Given the description of an element on the screen output the (x, y) to click on. 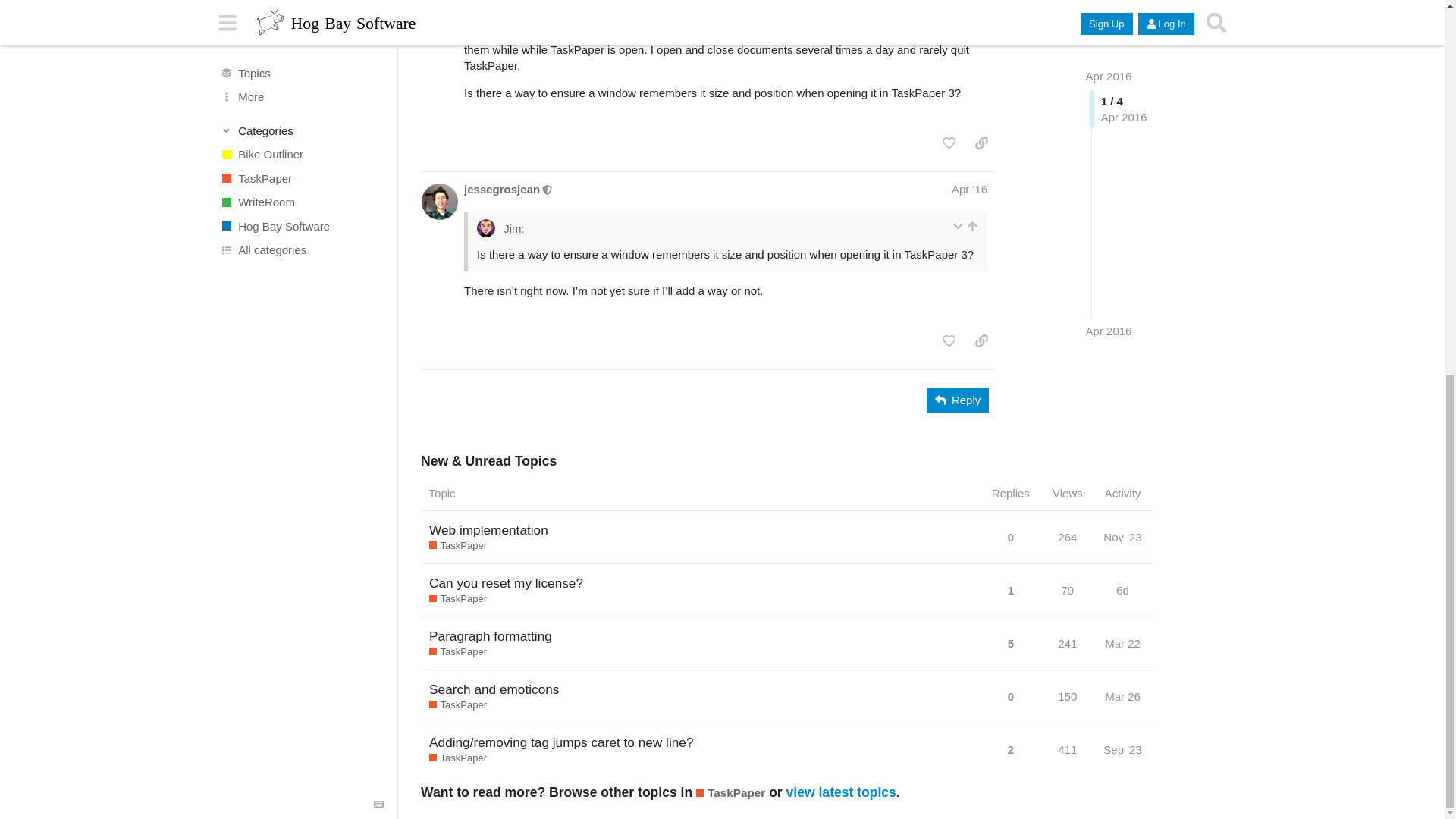
Keyboard Shortcuts (378, 114)
